Given the description of an element on the screen output the (x, y) to click on. 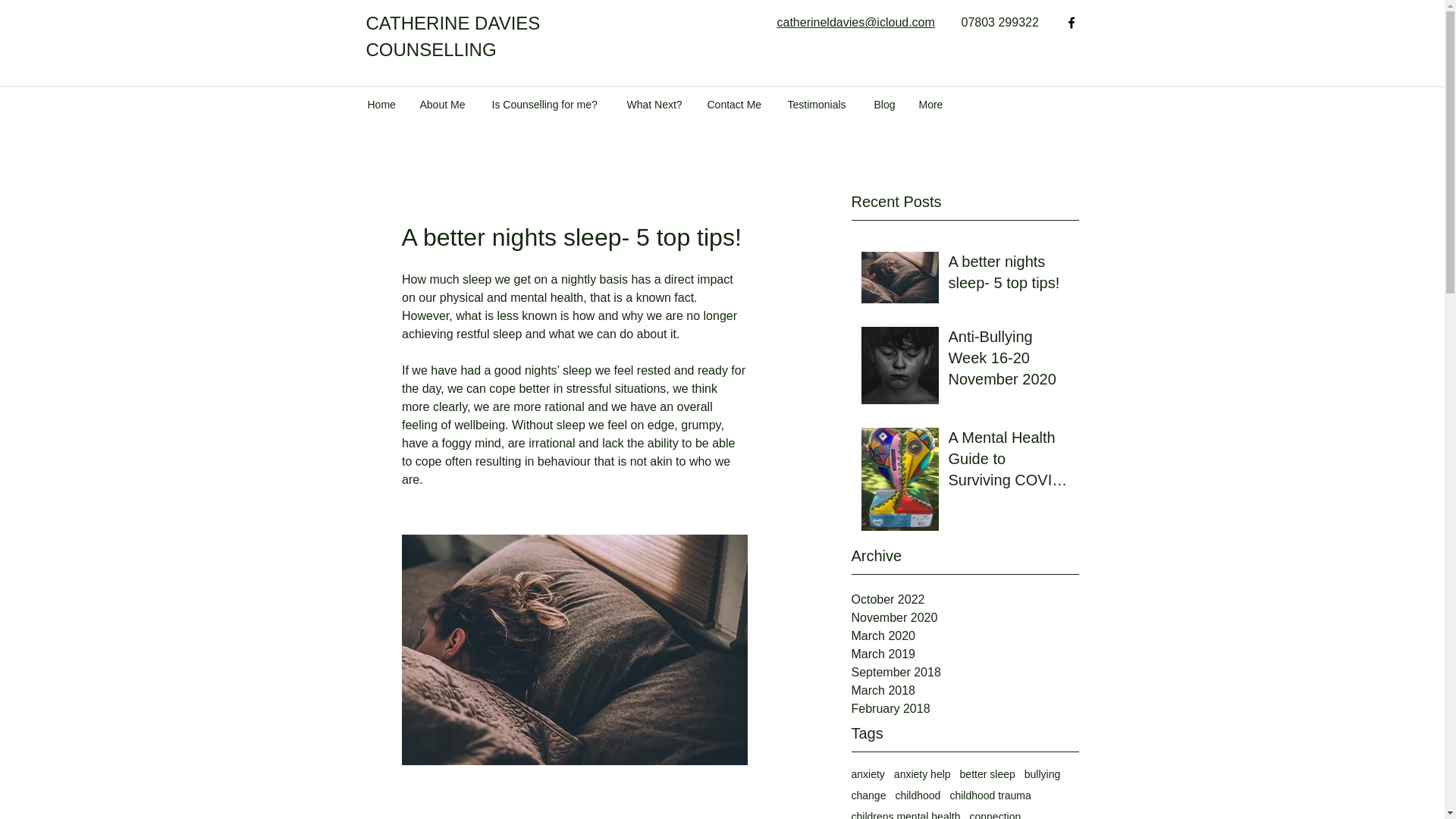
Is Counselling for me? (547, 104)
A better nights sleep- 5 top tips! (1007, 274)
February 2018 (964, 709)
September 2018 (964, 672)
anxiety (866, 774)
childrens mental health (904, 814)
bullying (1042, 774)
Blog (885, 104)
Testimonials (819, 104)
About Me (443, 104)
